Given the description of an element on the screen output the (x, y) to click on. 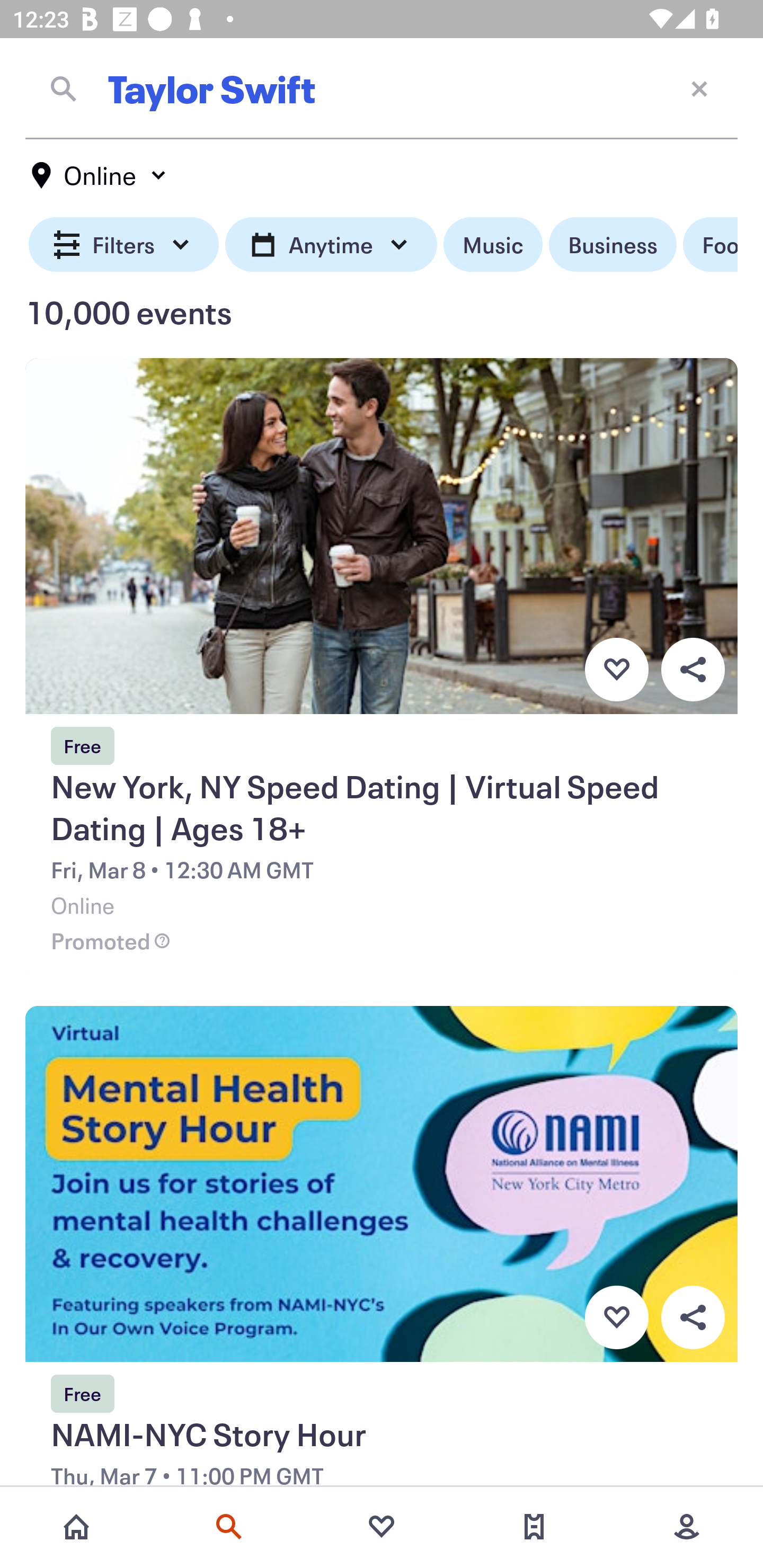
Taylor Swift Close current screen (381, 88)
Close current screen (699, 88)
Online (99, 175)
Filters (123, 244)
Anytime (331, 244)
Music (492, 244)
Business (612, 244)
Favorite button (616, 669)
Overflow menu button (692, 669)
Favorite button (616, 1317)
Overflow menu button (692, 1317)
Home (76, 1526)
Search events (228, 1526)
Favorites (381, 1526)
Tickets (533, 1526)
More (686, 1526)
